Given the description of an element on the screen output the (x, y) to click on. 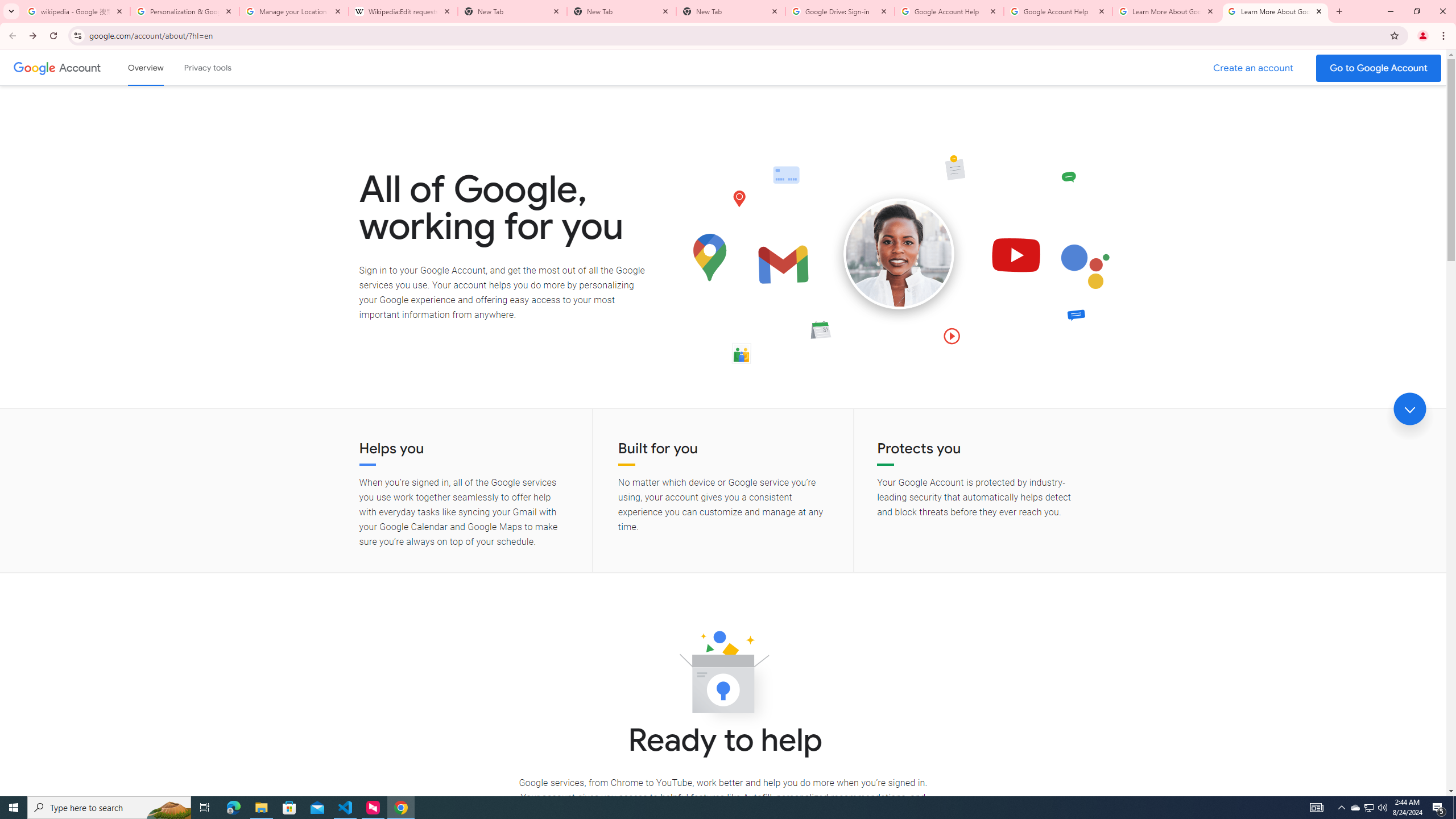
Manage your Location History - Google Search Help (293, 11)
Go to your Google Account (1378, 67)
New Tab (621, 11)
Google Account (80, 67)
Google Account Help (949, 11)
Google logo (34, 67)
Privacy tools (207, 67)
Google Drive: Sign-in (839, 11)
